Given the description of an element on the screen output the (x, y) to click on. 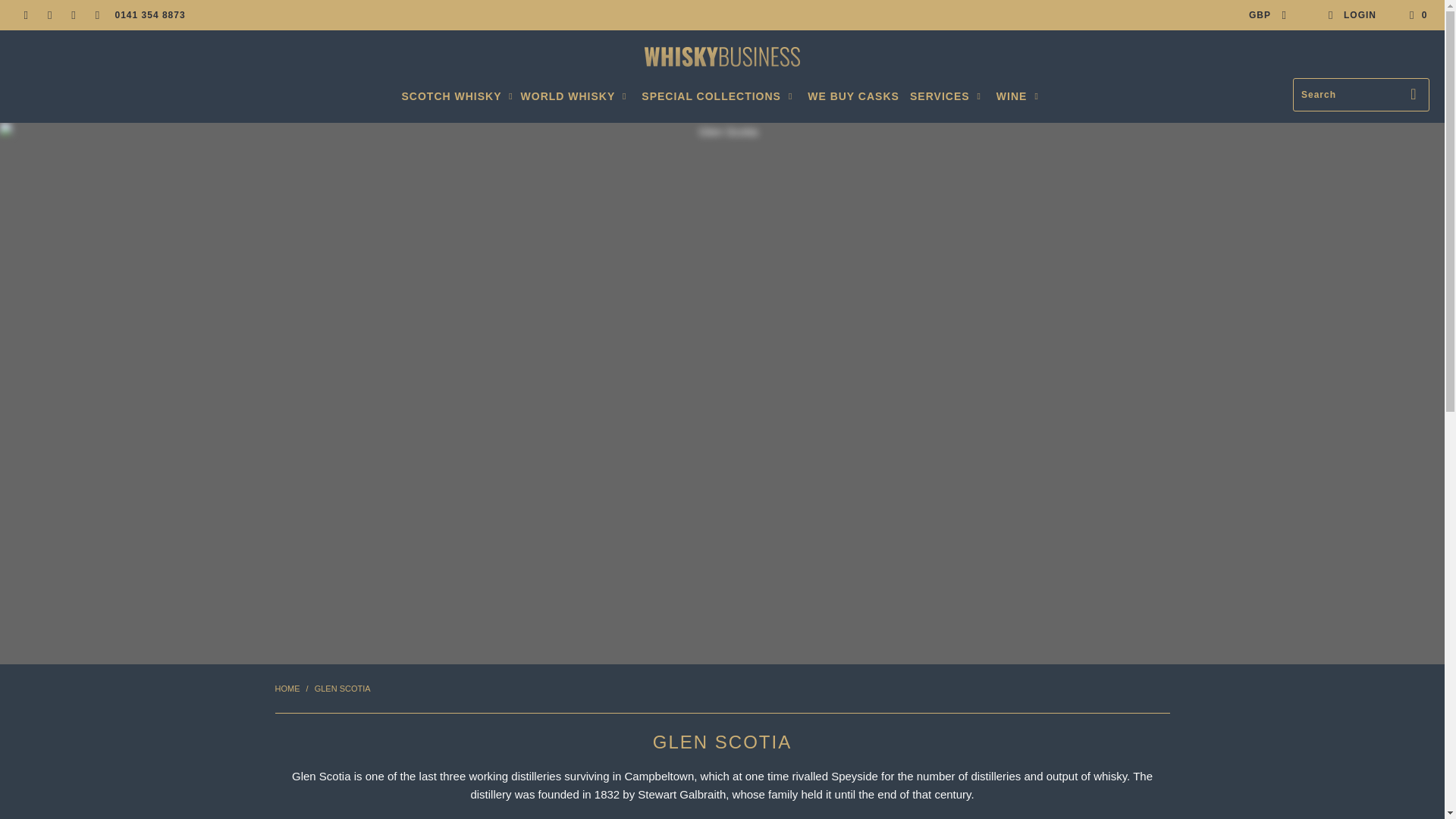
Email Whisky Business (96, 14)
Whisky Business on Twitter (25, 14)
Whisky Business (287, 687)
My Account  (1351, 15)
Whisky Business (722, 57)
Glen Scotia (342, 687)
Whisky Business on Instagram (73, 14)
Whisky Business on Facebook (48, 14)
